Given the description of an element on the screen output the (x, y) to click on. 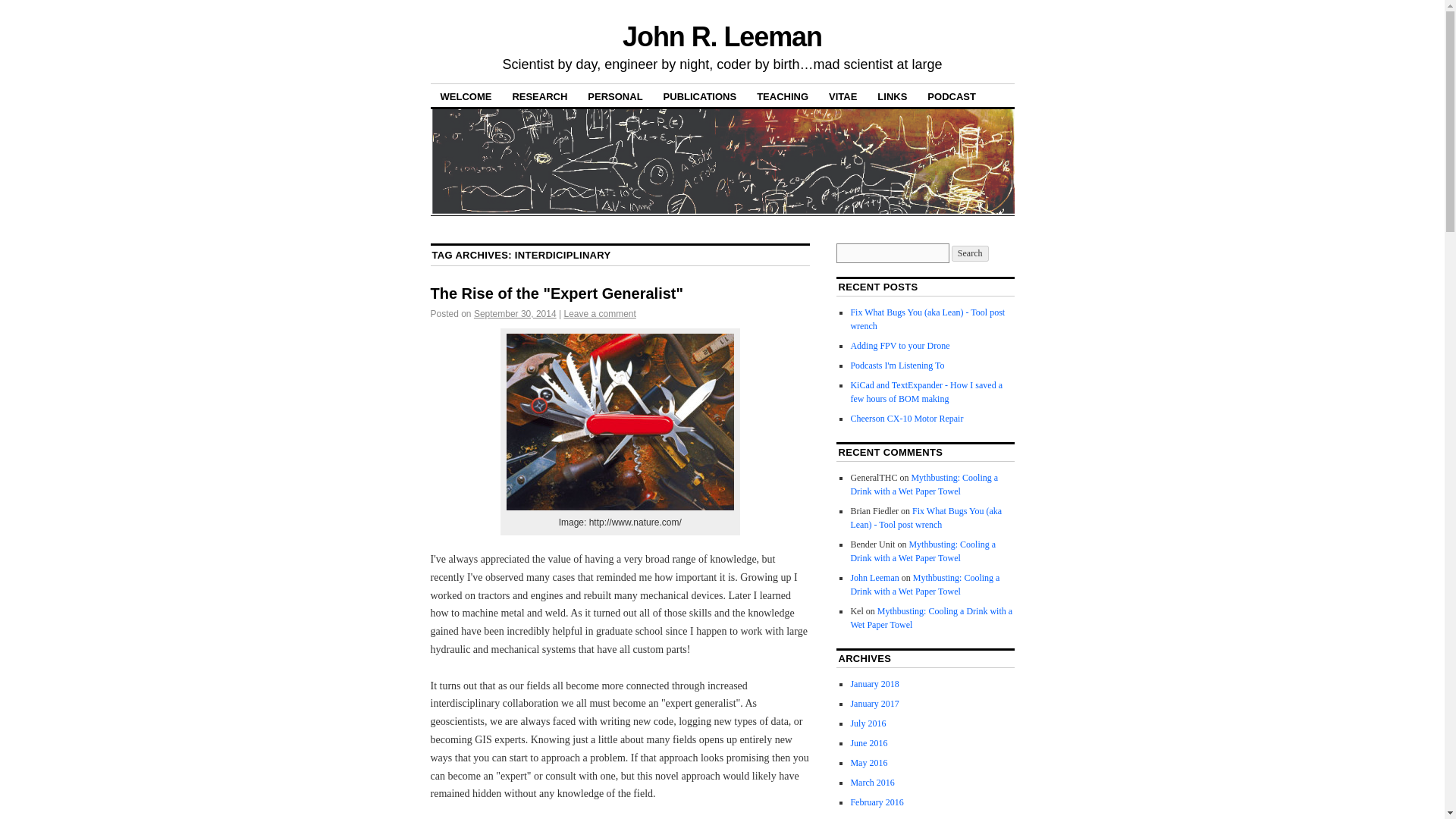
PODCAST (951, 96)
PERSONAL (615, 96)
Search (970, 253)
Mythbusting: Cooling a Drink with a Wet Paper Towel (930, 617)
Search (970, 253)
Adding FPV to your Drone (899, 345)
LINKS (892, 96)
July 2016 (867, 723)
RESEARCH (539, 96)
September 30, 2014 (515, 313)
WELCOME (466, 96)
PUBLICATIONS (699, 96)
VITAE (842, 96)
Cheerson CX-10 Motor Repair (906, 418)
